Given the description of an element on the screen output the (x, y) to click on. 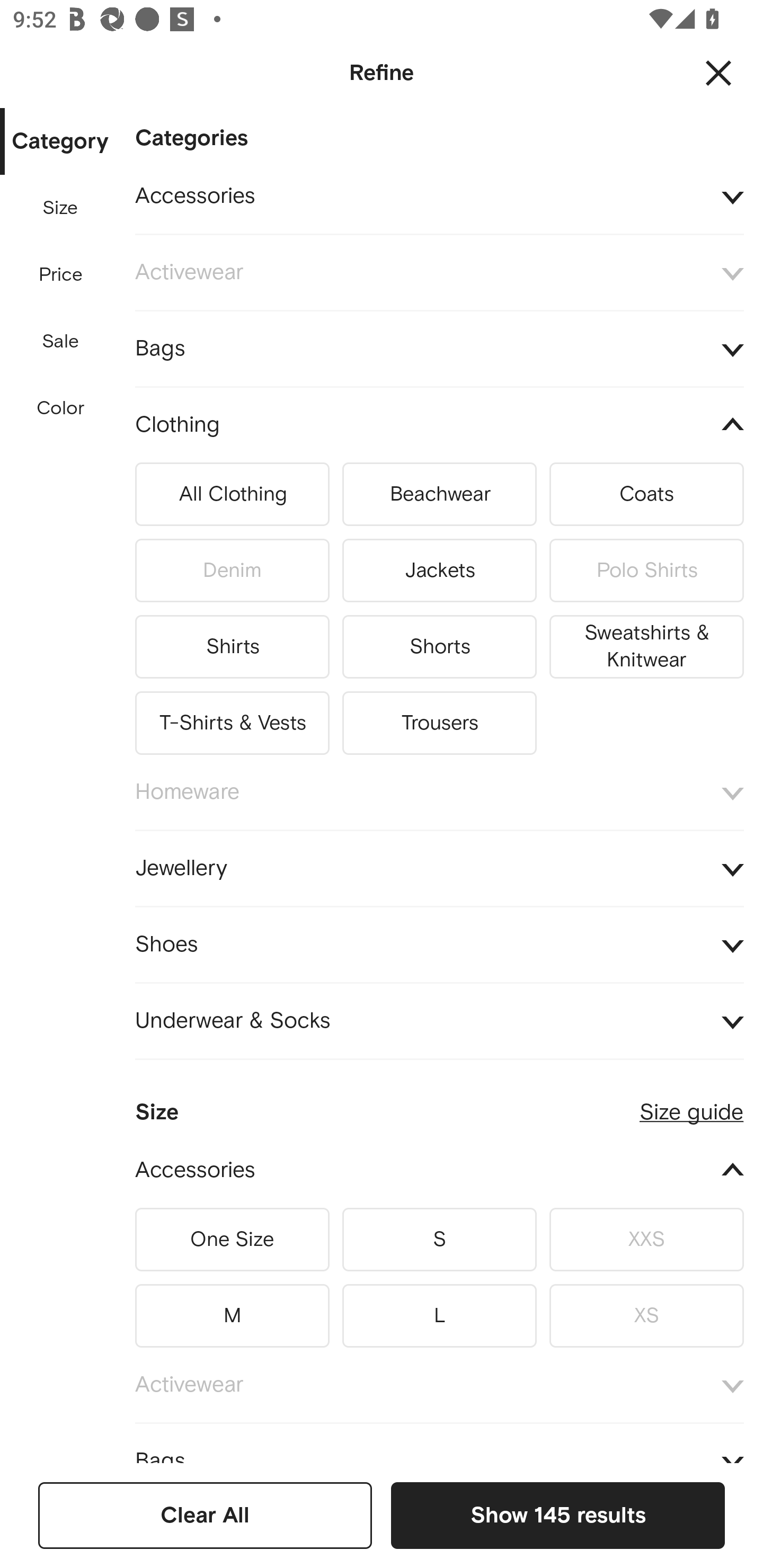
Category (60, 141)
Accessories (439, 196)
Size (60, 208)
Activewear (439, 272)
Price (60, 274)
Sale (60, 342)
Bags (439, 348)
Color (60, 408)
Clothing (439, 425)
All Clothing (232, 494)
Beachwear (439, 494)
Coats (646, 494)
Denim (232, 570)
Jackets (439, 570)
Polo Shirts (646, 570)
Shirts (232, 646)
Shorts (439, 646)
Sweatshirts & Knitwear (646, 646)
T-Shirts & Vests (232, 719)
Trousers (439, 719)
Homeware (439, 792)
Jewellery (439, 868)
Shoes (439, 944)
Underwear & Socks (439, 1021)
Size guide (691, 1104)
Accessories (439, 1170)
One Size (232, 1239)
S (439, 1239)
XXS (646, 1239)
M (232, 1311)
L (439, 1311)
XS (646, 1311)
Activewear (439, 1384)
Clear All (205, 1515)
Show 145 results (557, 1515)
